Given the description of an element on the screen output the (x, y) to click on. 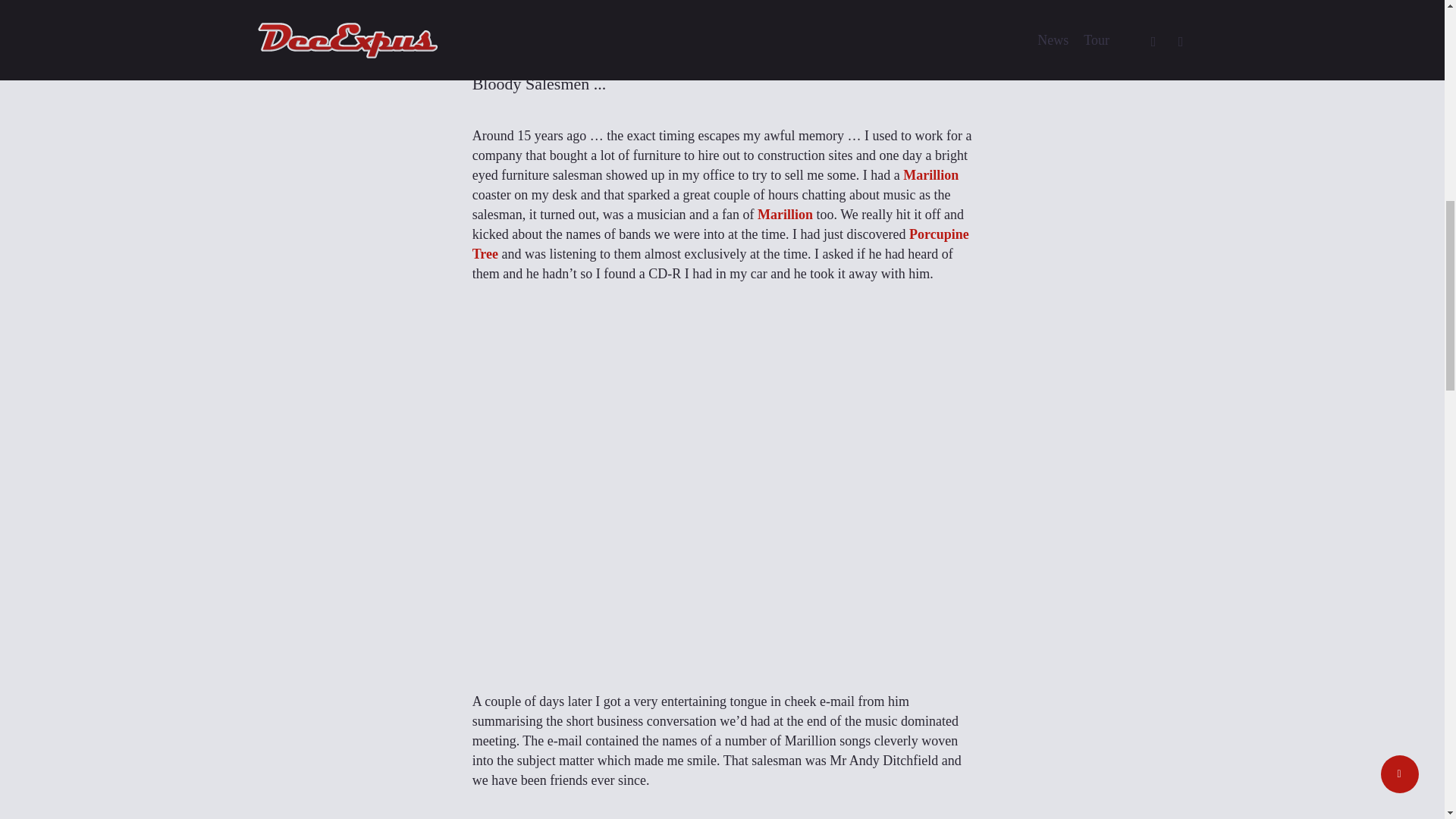
Porcupine Tree (720, 243)
Marillion (930, 174)
Marillion (784, 214)
